Given the description of an element on the screen output the (x, y) to click on. 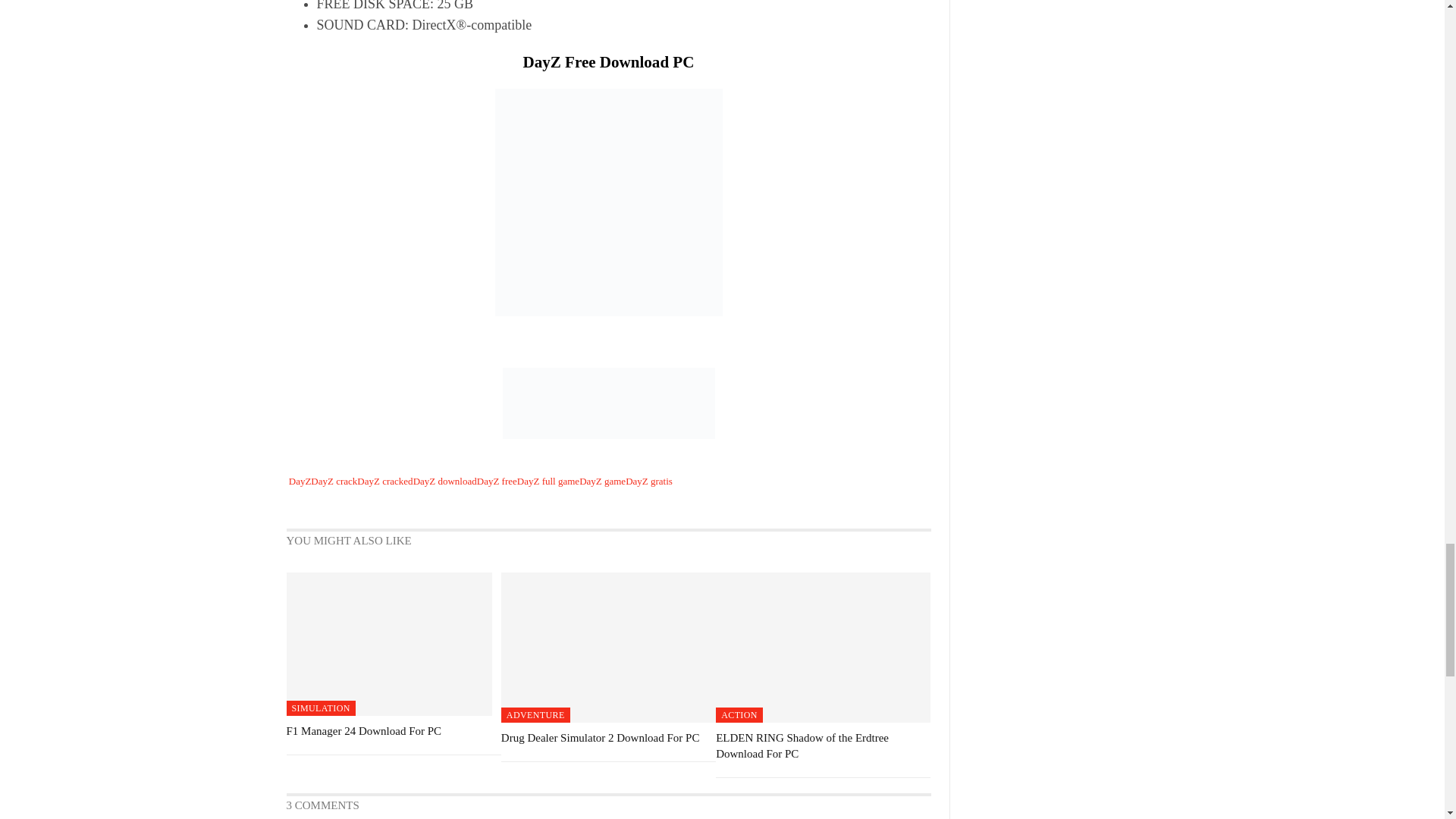
Drug Dealer Simulator 2 Download For PC (600, 737)
DayZ cracked (384, 480)
DayZ (299, 480)
Drug Dealer Simulator 2 Download For PC (608, 647)
DayZ crack (333, 480)
